Given the description of an element on the screen output the (x, y) to click on. 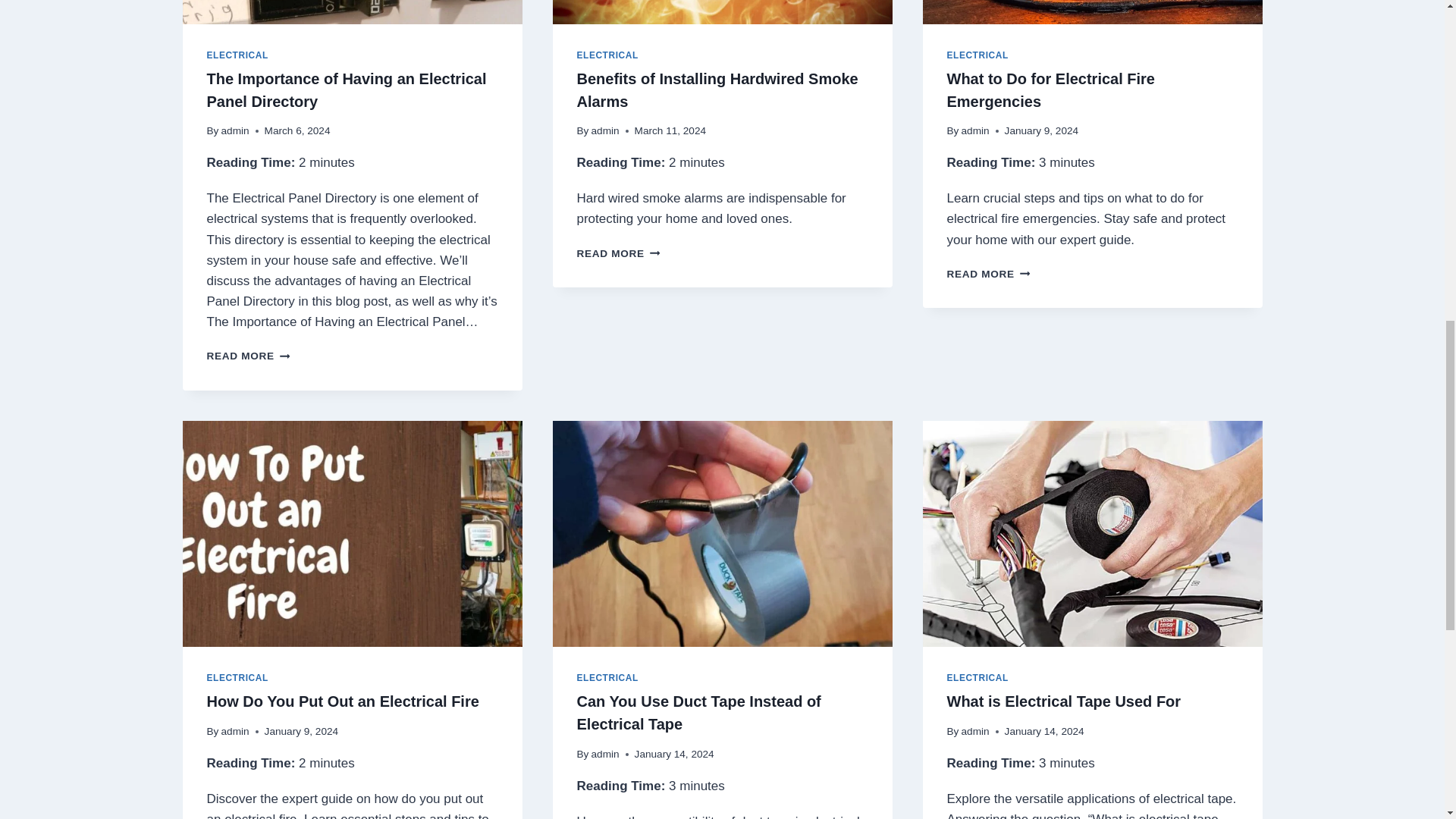
ELECTRICAL (236, 54)
How Do You Put Out an Electrical Fire (342, 701)
ELECTRICAL (236, 677)
ELECTRICAL (606, 54)
The Importance of Having an Electrical Panel Directory (346, 89)
Benefits of Installing Hardwired Smoke Alarms (987, 274)
ELECTRICAL (716, 89)
admin (976, 54)
admin (975, 130)
admin (234, 130)
What to Do for Electrical Fire Emergencies (605, 130)
